Given the description of an element on the screen output the (x, y) to click on. 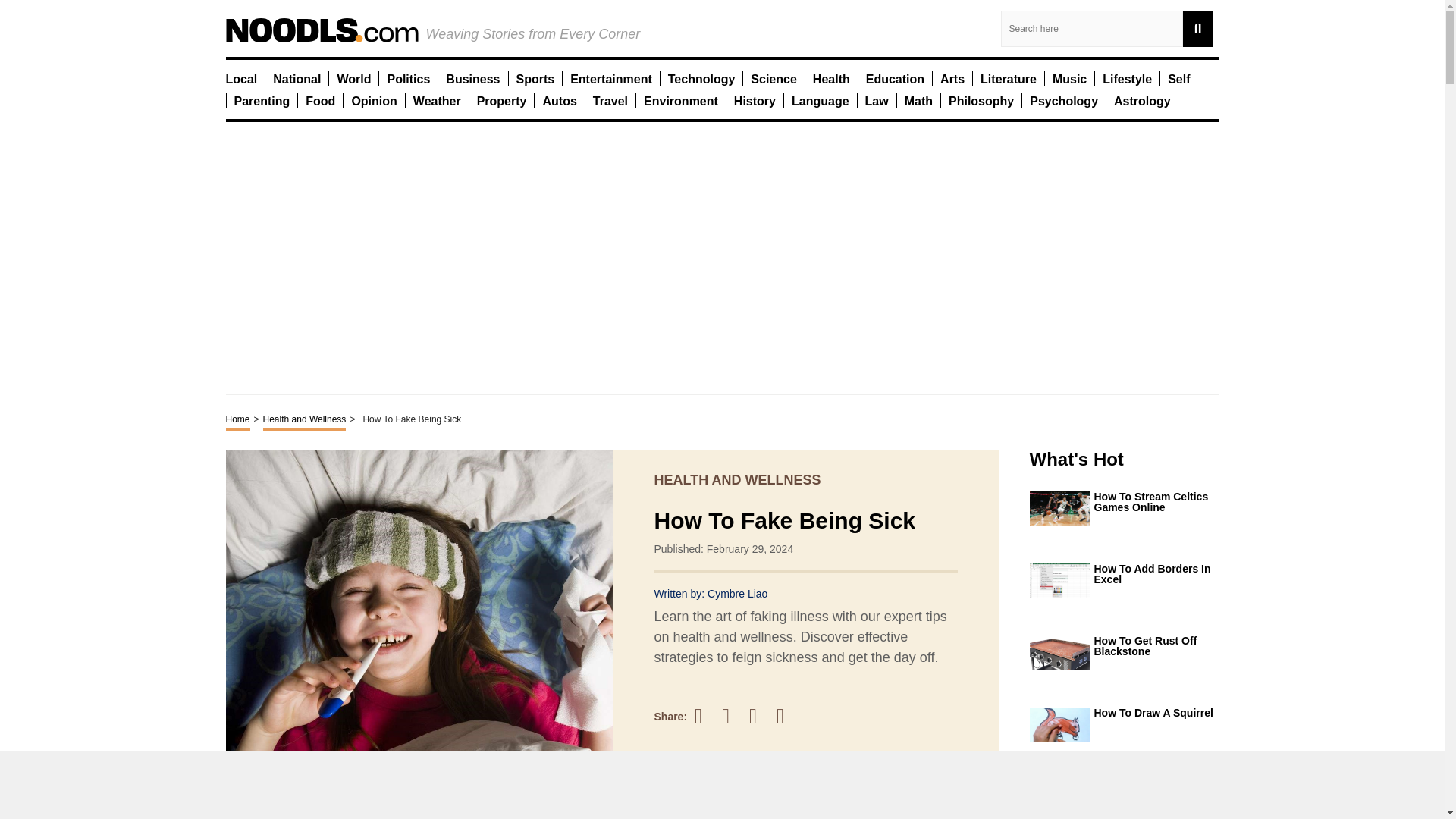
Philosophy (981, 100)
Travel (609, 100)
Opinion (373, 100)
Language (820, 100)
Local (241, 78)
Share on WhatsApp (786, 716)
Share on Twitter (732, 716)
Law (876, 100)
History (754, 100)
Math (918, 100)
Food (319, 100)
World (353, 78)
Weather (437, 100)
National (296, 78)
Parenting (260, 100)
